Given the description of an element on the screen output the (x, y) to click on. 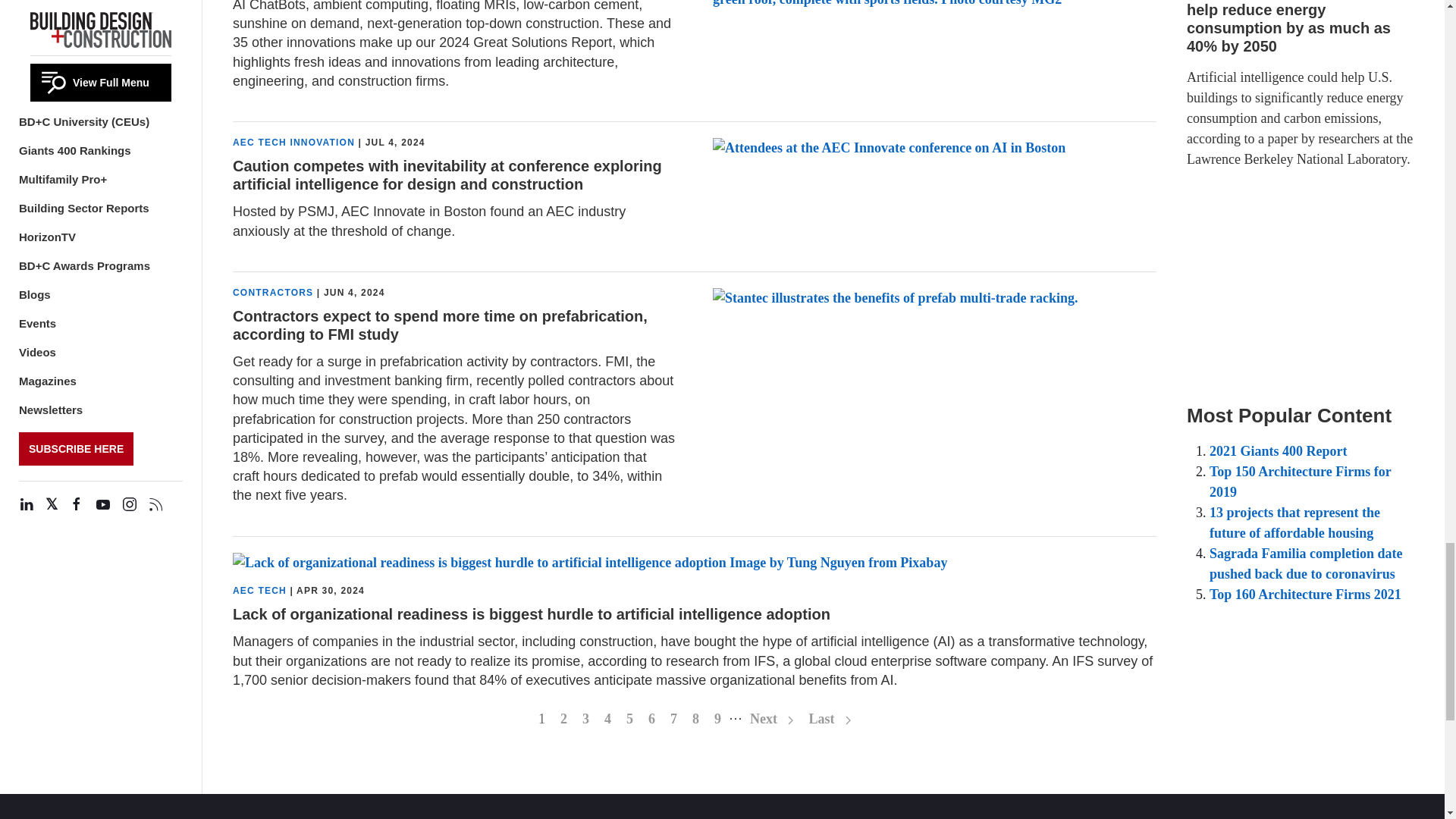
Go to next page (771, 719)
Go to last page (829, 719)
